Given the description of an element on the screen output the (x, y) to click on. 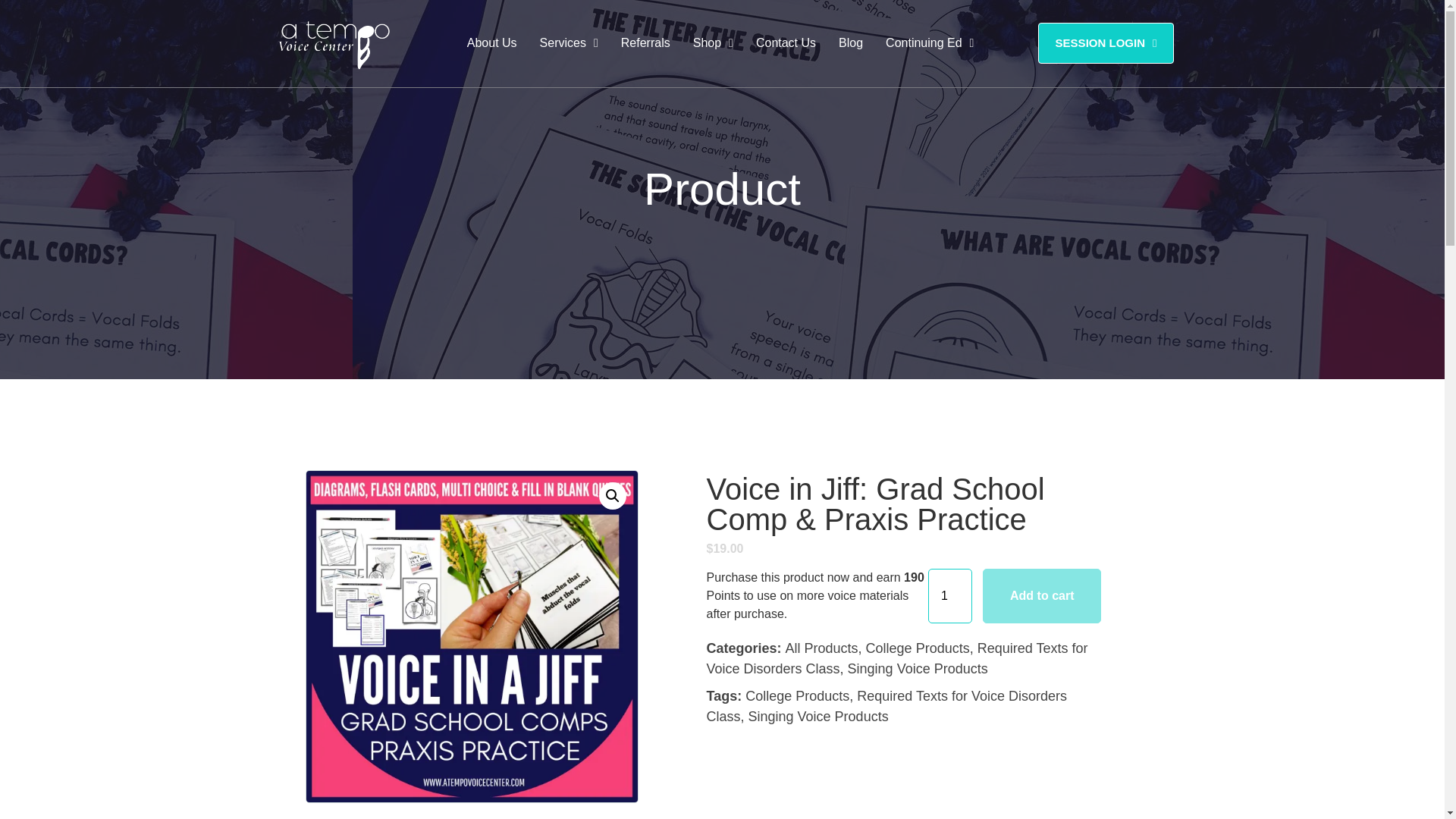
SESSION LOGIN (1106, 42)
About Us (491, 42)
Blog (850, 42)
Continuing Ed (929, 42)
Shop (713, 42)
Contact Us (785, 42)
Referrals (645, 42)
1 (950, 595)
Services (569, 42)
PraxispracticeCover (471, 636)
